Given the description of an element on the screen output the (x, y) to click on. 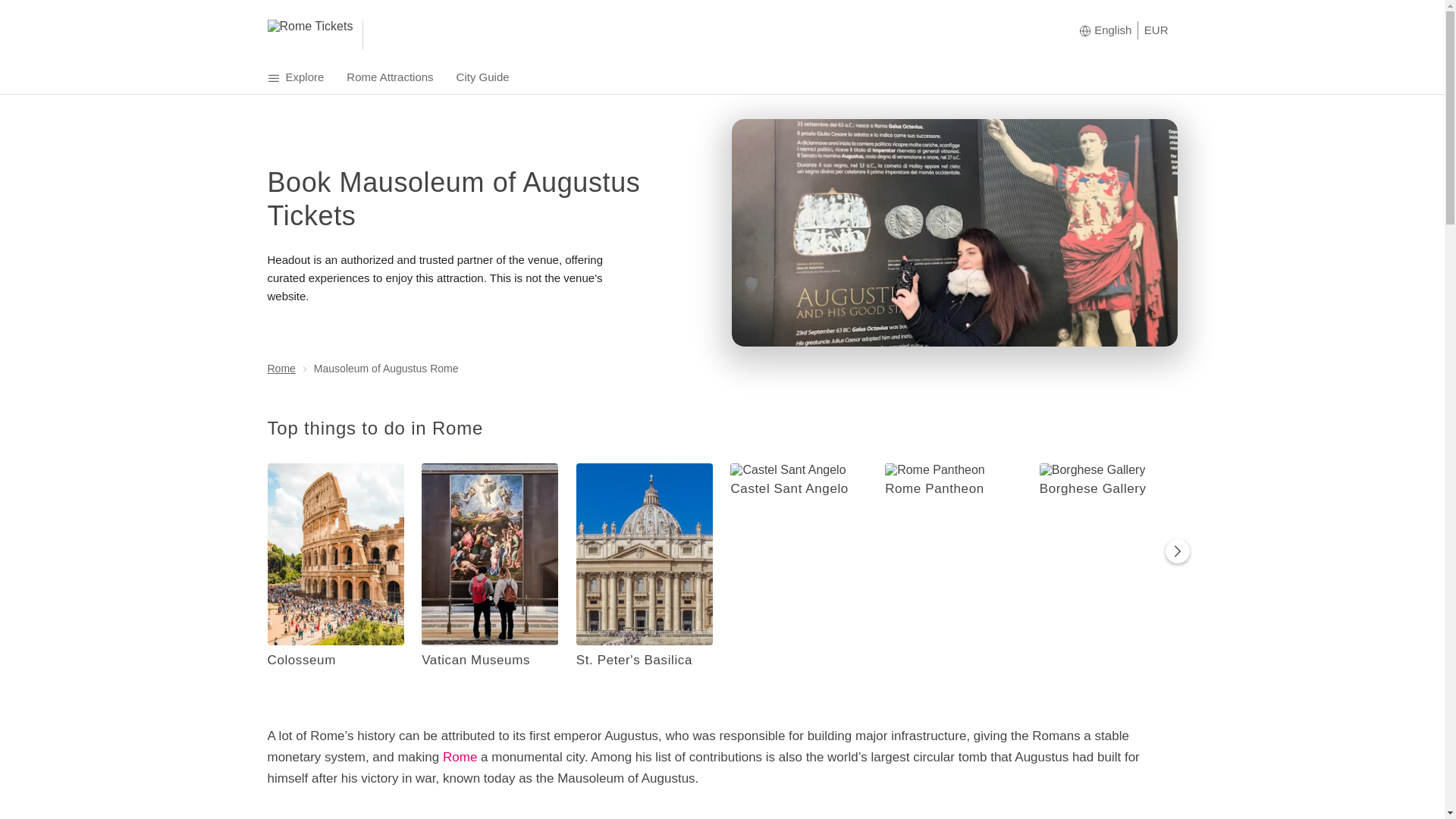
Rome (280, 368)
Borghese Gallery (1108, 486)
Vatican Museums (490, 658)
Rome Pantheon (954, 486)
Castel Sant Angelo (798, 486)
St. Peter's Basilica (645, 658)
Colosseum (335, 658)
